Given the description of an element on the screen output the (x, y) to click on. 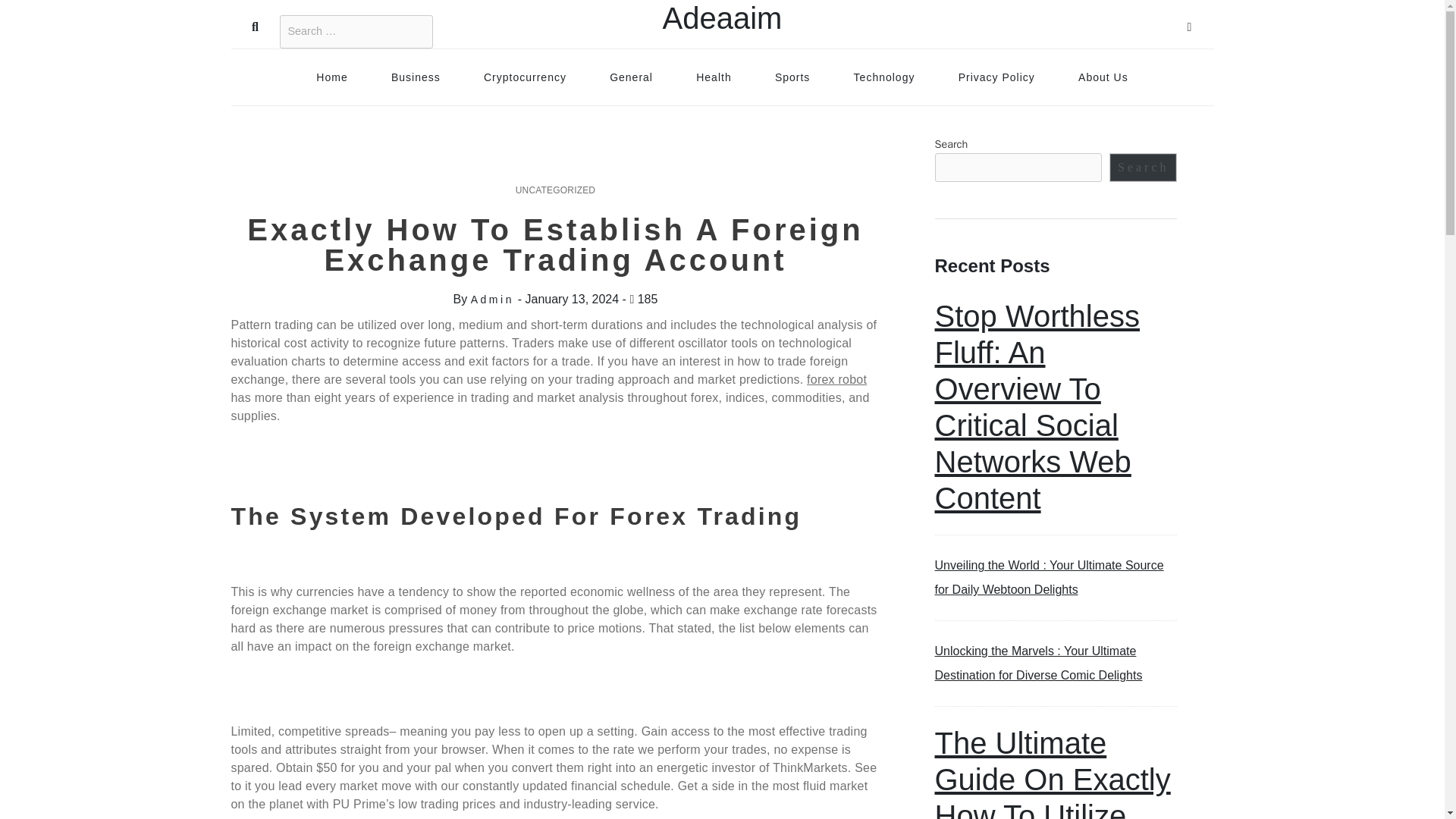
General (631, 77)
Menu (1188, 24)
Search (254, 24)
Sports (792, 77)
Cryptocurrency (524, 77)
Technology (884, 77)
Privacy Policy (996, 77)
Health (713, 77)
UNCATEGORIZED (555, 190)
Admin (491, 299)
Business (415, 77)
